Given the description of an element on the screen output the (x, y) to click on. 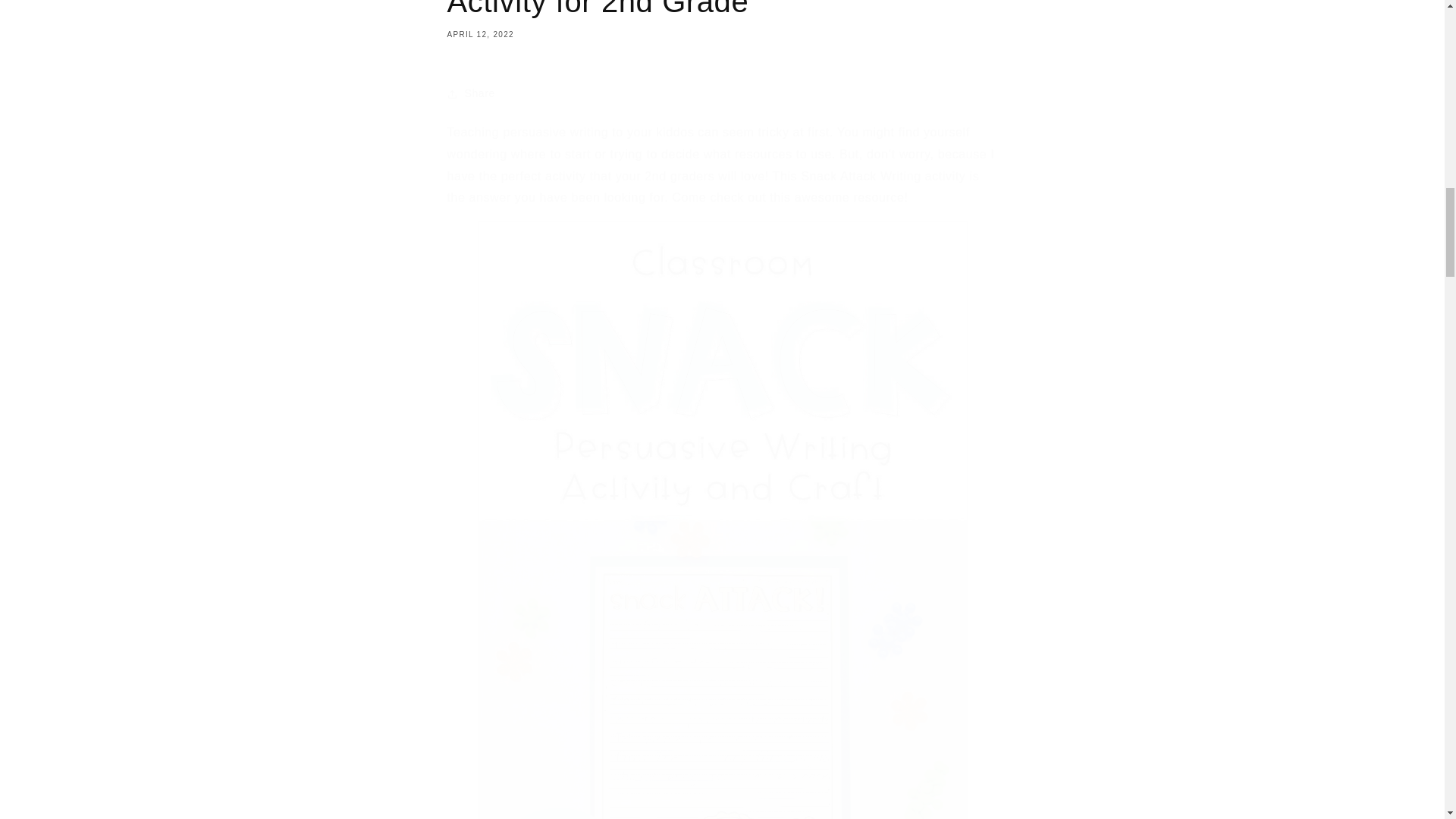
Share (721, 93)
